Given the description of an element on the screen output the (x, y) to click on. 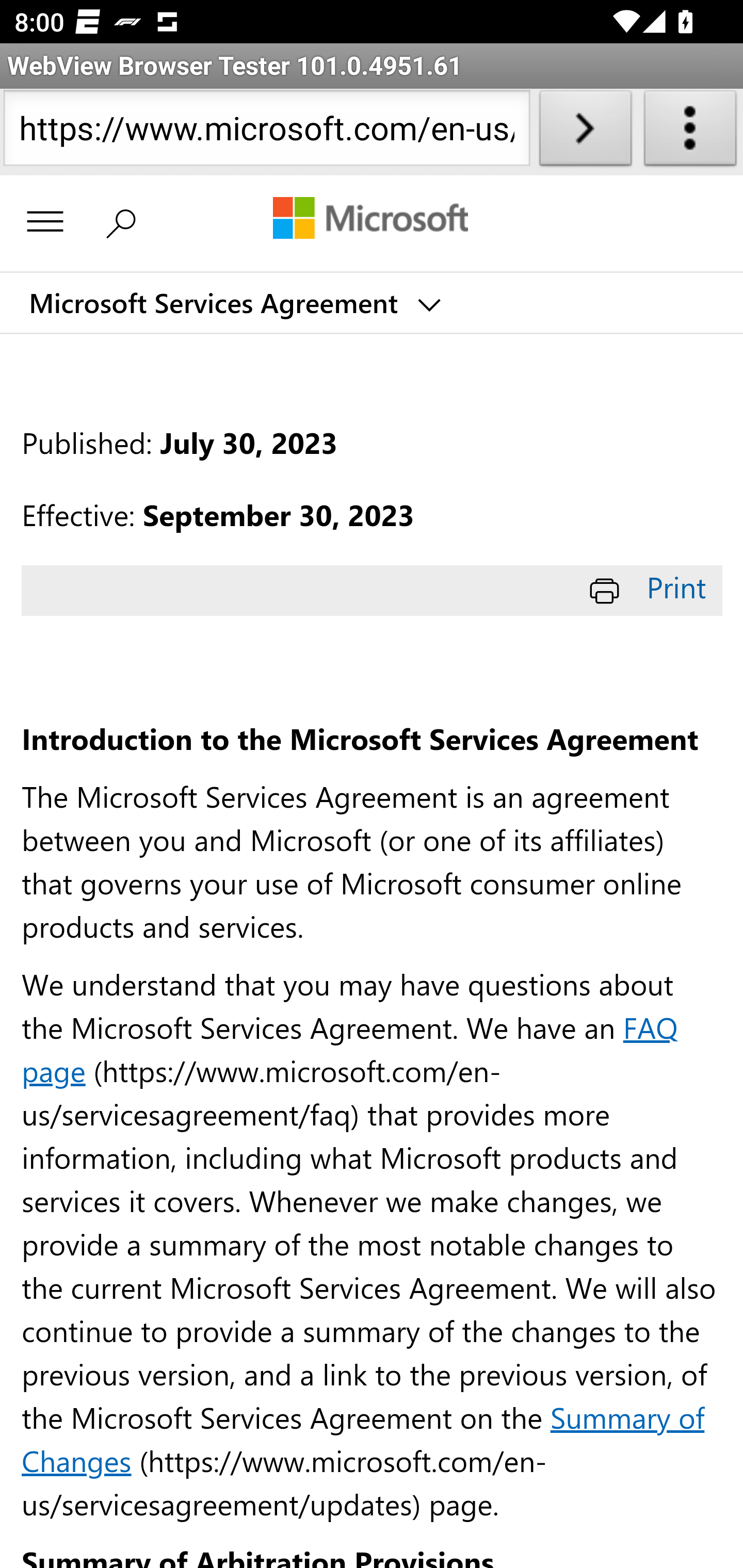
https://www.microsoft.com/en-us/servicesagreement (266, 132)
Load URL (585, 132)
About WebView (690, 132)
Microsoft (370, 219)
Search Microsoft.com (124, 219)
Microsoft Services Agreement (233, 302)
Print (651, 586)
FAQ page (350, 1047)
Summary of Changes (363, 1438)
